Given the description of an element on the screen output the (x, y) to click on. 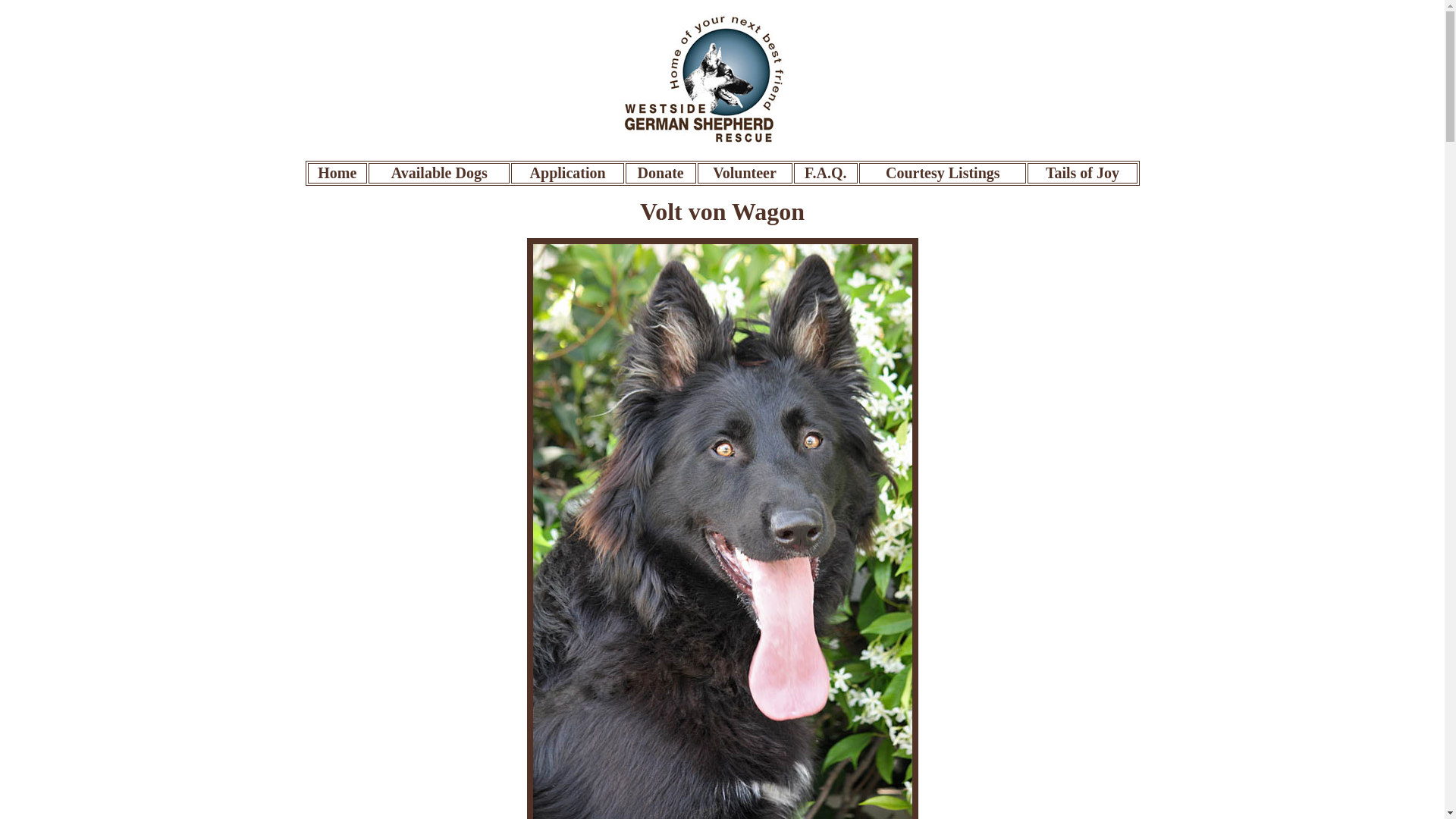
Tails of Joy (1082, 172)
Volunteer (744, 172)
Available Dogs (439, 172)
Home (336, 172)
F.A.Q. (825, 172)
Donate (660, 172)
Courtesy Listings (942, 172)
Application (567, 172)
